Given the description of an element on the screen output the (x, y) to click on. 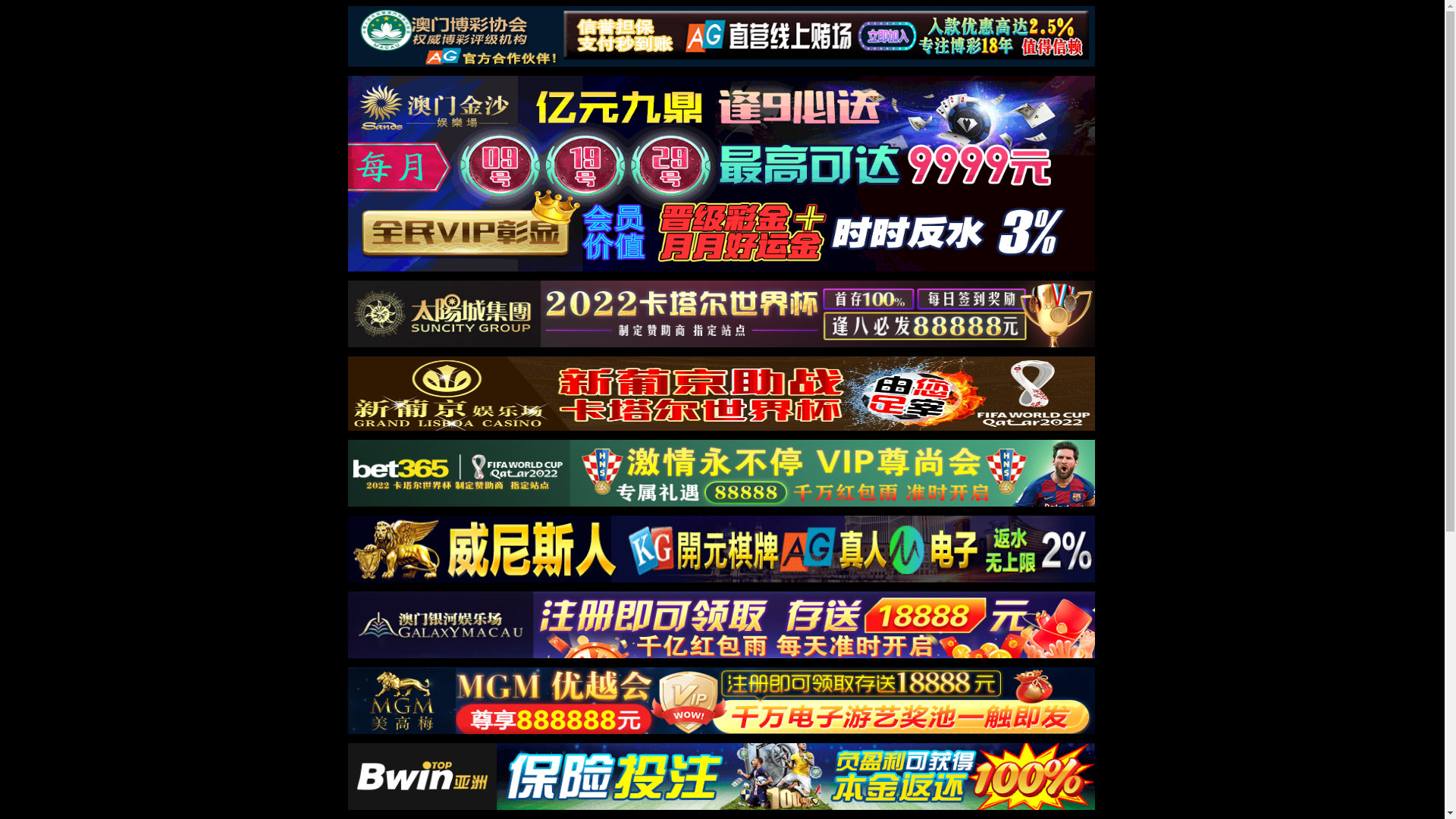
3 Element type: text (742, 665)
Next Element type: text (1156, 315)
2 Element type: text (727, 665)
Prev Element type: text (299, 315)
>> Element type: text (293, 651)
1 Element type: text (712, 665)
